Given the description of an element on the screen output the (x, y) to click on. 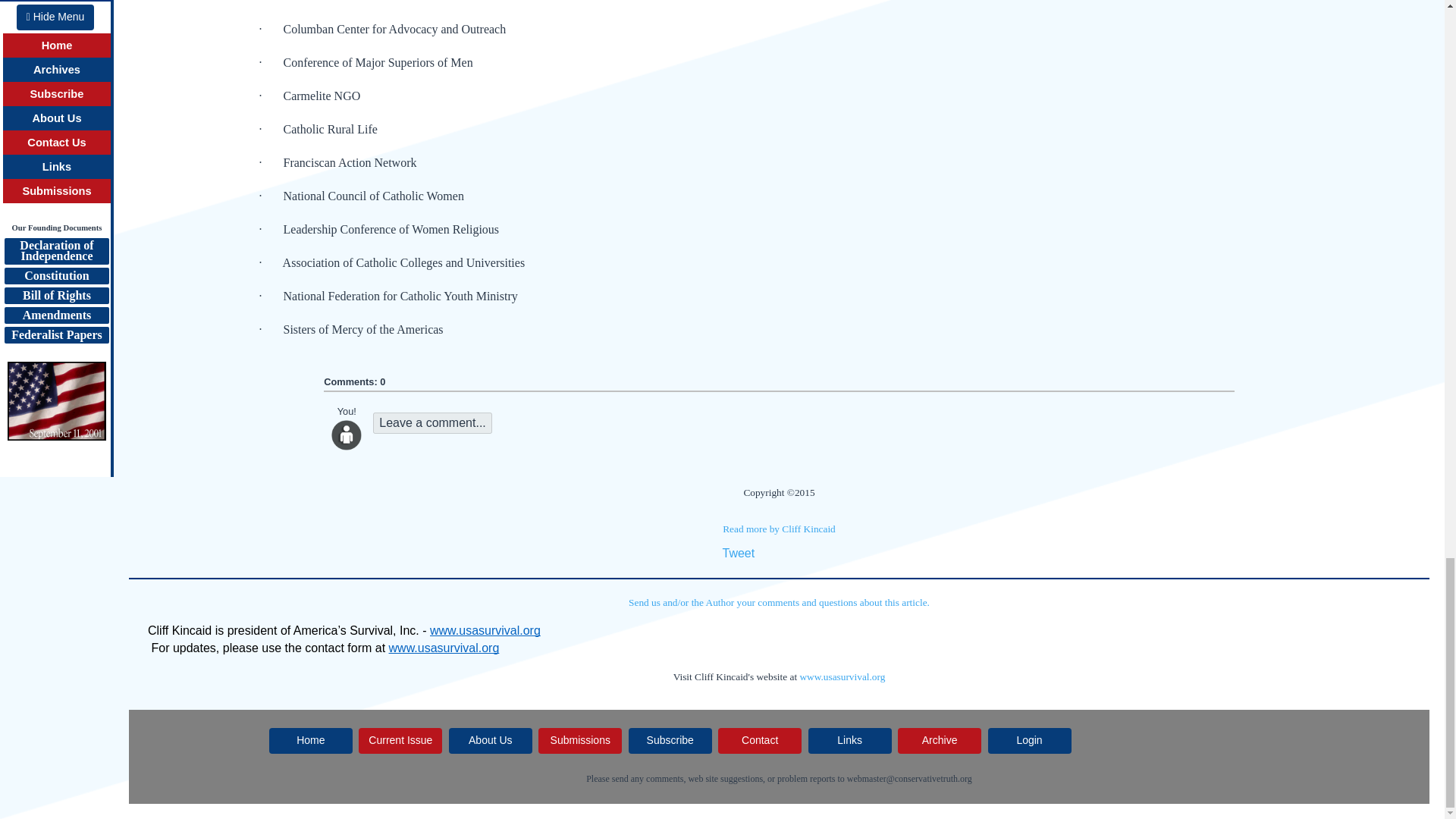
About Us (490, 740)
Leave a comment... (432, 423)
Links (849, 740)
Contact (759, 740)
Home (310, 740)
Login (1029, 740)
Submissions (579, 740)
Read more by Cliff Kincaid (778, 528)
Tweet (738, 553)
Current Issue (400, 740)
www.usasurvival.org (842, 676)
www.usasurvival.org (484, 631)
Archive (939, 740)
Subscribe (669, 740)
www.usasurvival.org (443, 647)
